Given the description of an element on the screen output the (x, y) to click on. 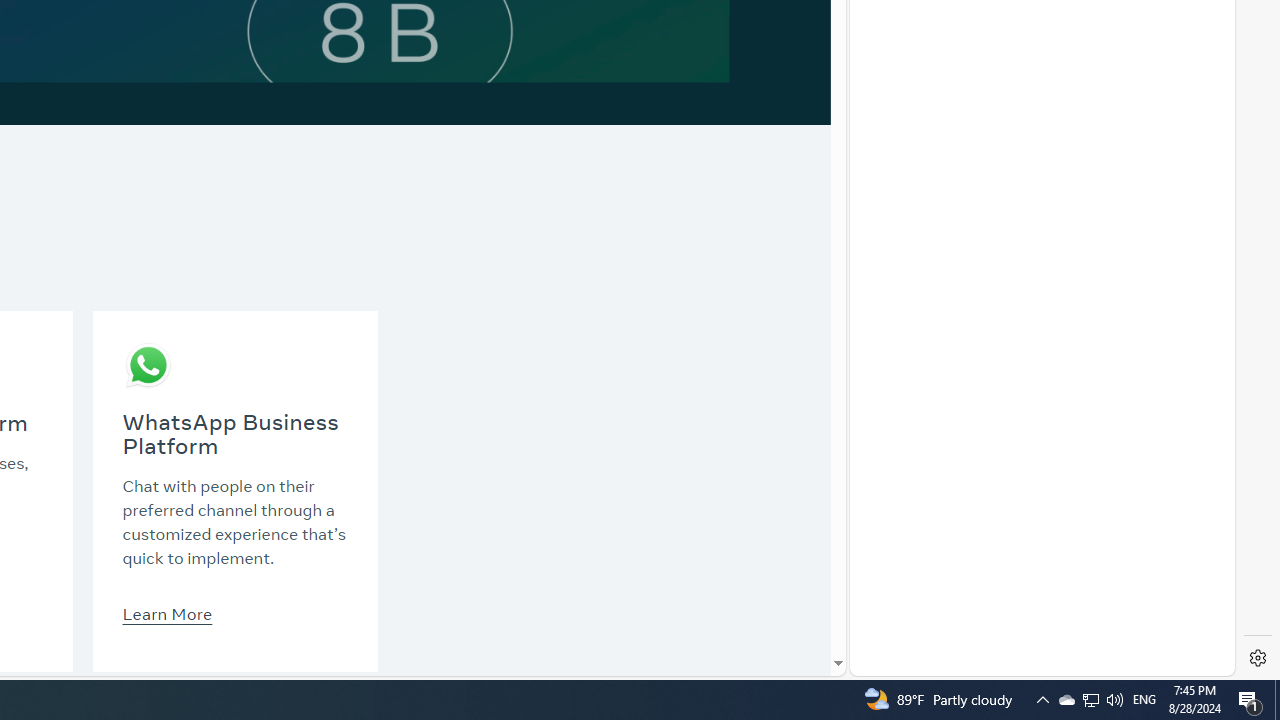
Learn More (166, 613)
Settings (1258, 658)
